Given the description of an element on the screen output the (x, y) to click on. 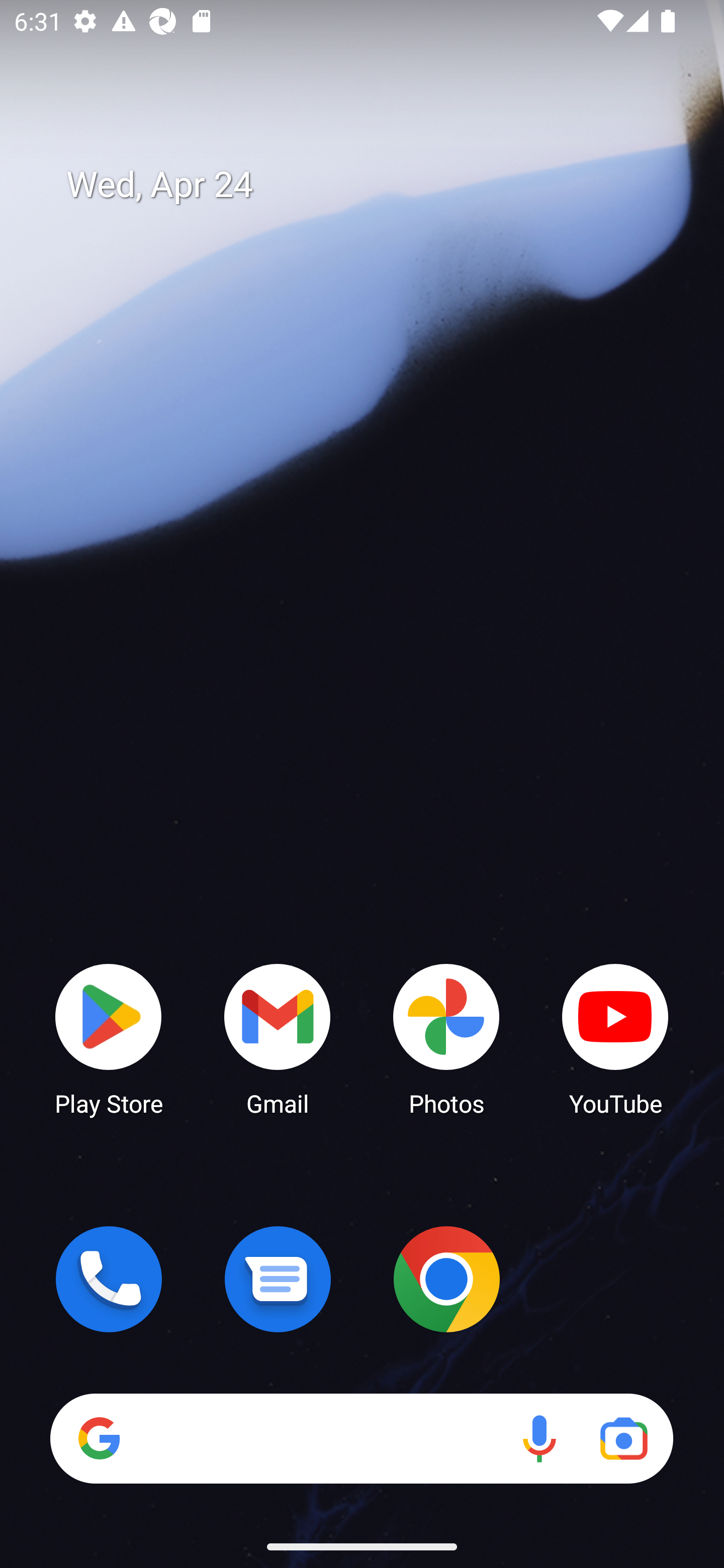
Wed, Apr 24 (375, 184)
Play Store (108, 1038)
Gmail (277, 1038)
Photos (445, 1038)
YouTube (615, 1038)
Phone (108, 1279)
Messages (277, 1279)
Chrome (446, 1279)
Search Voice search Google Lens (361, 1438)
Voice search (539, 1438)
Google Lens (623, 1438)
